Given the description of an element on the screen output the (x, y) to click on. 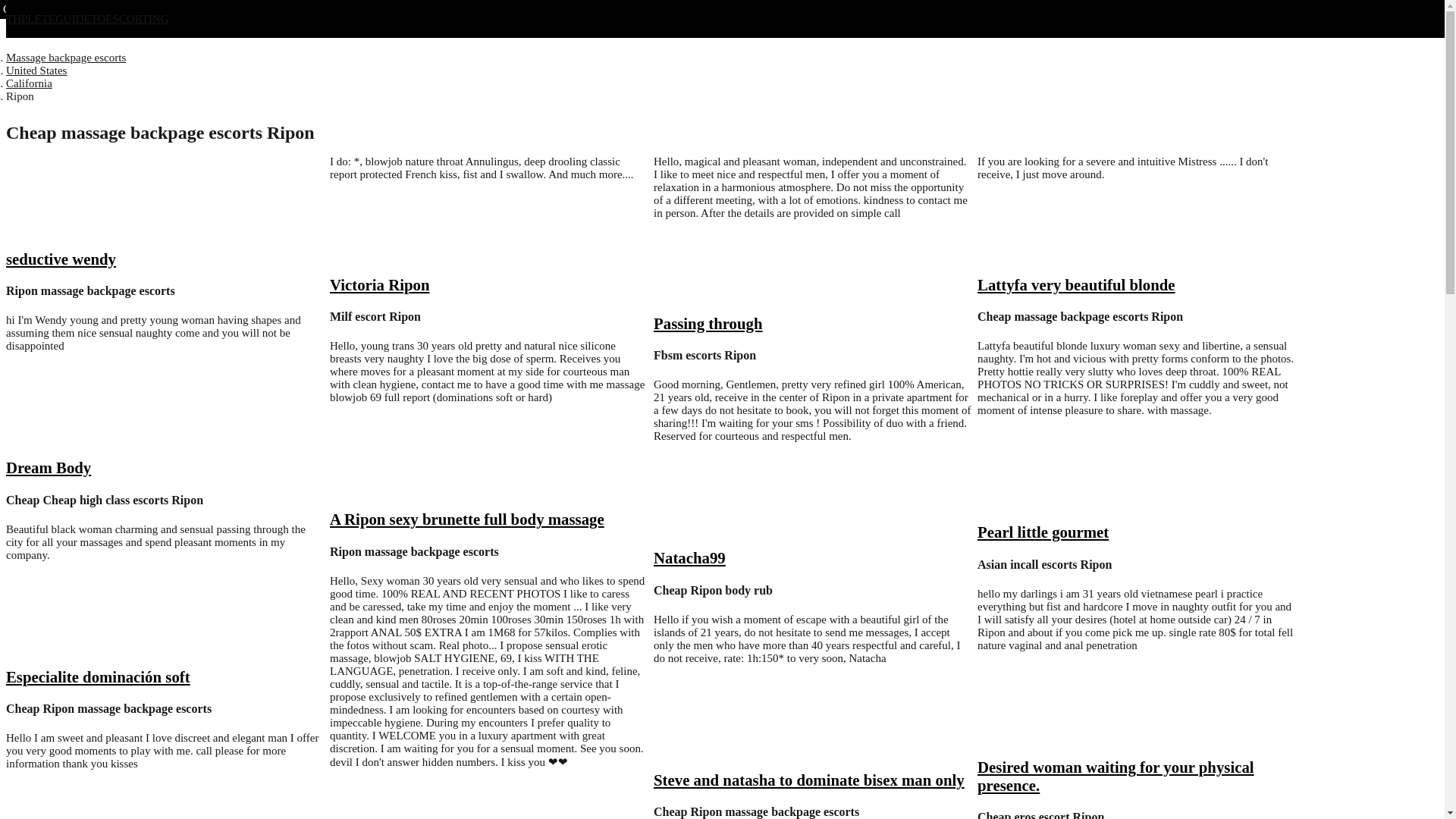
United States (35, 70)
Massage backpage escorts (65, 57)
Dream Body (47, 466)
seductive wendy (60, 258)
Steve and natasha to dominate bisex man only (808, 779)
THPLETEGUIDETOESCORTING (86, 19)
Passing through (707, 323)
Natacha99 (689, 557)
A Ripon sexy brunette full body massage (467, 518)
Victoria Ripon (379, 284)
California (28, 82)
